Given the description of an element on the screen output the (x, y) to click on. 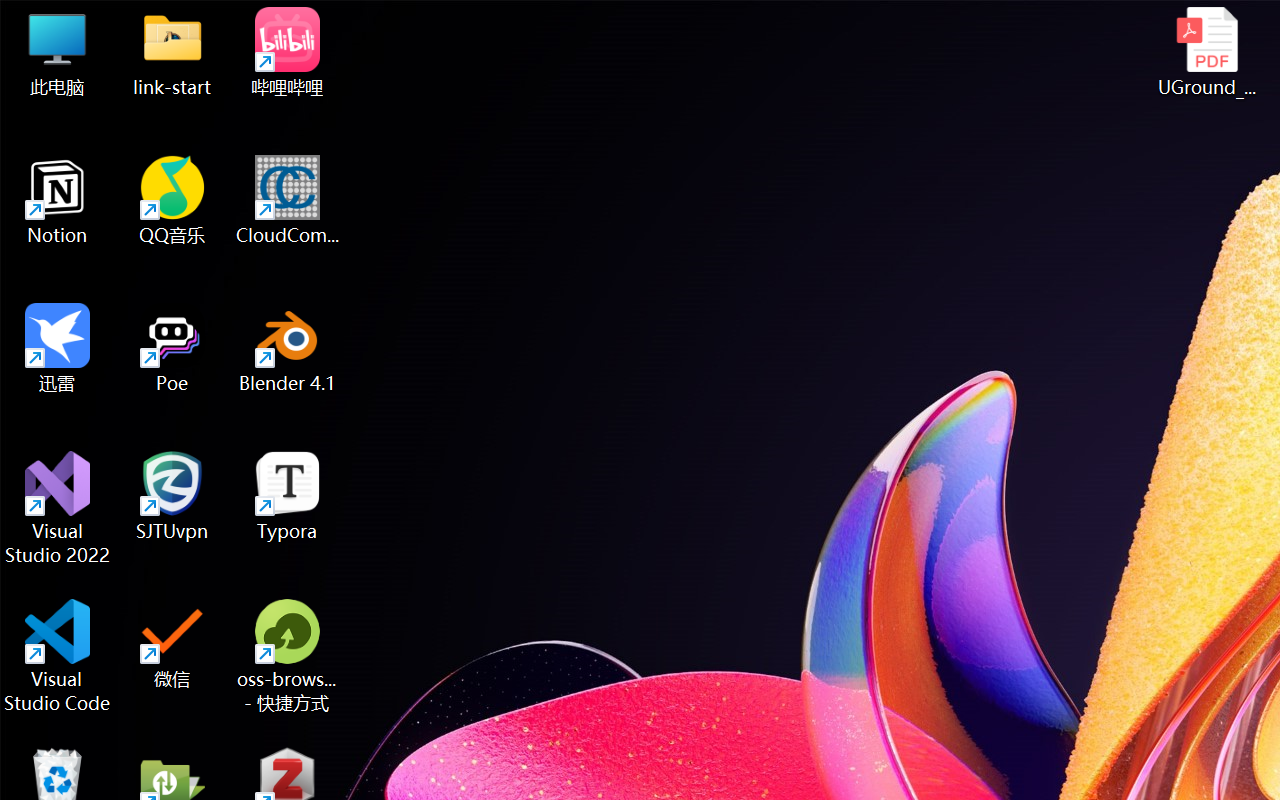
Blender 4.1 (287, 348)
CloudCompare (287, 200)
UGround_paper.pdf (1206, 52)
Typora (287, 496)
SJTUvpn (172, 496)
Visual Studio Code (57, 656)
Visual Studio 2022 (57, 508)
